Given the description of an element on the screen output the (x, y) to click on. 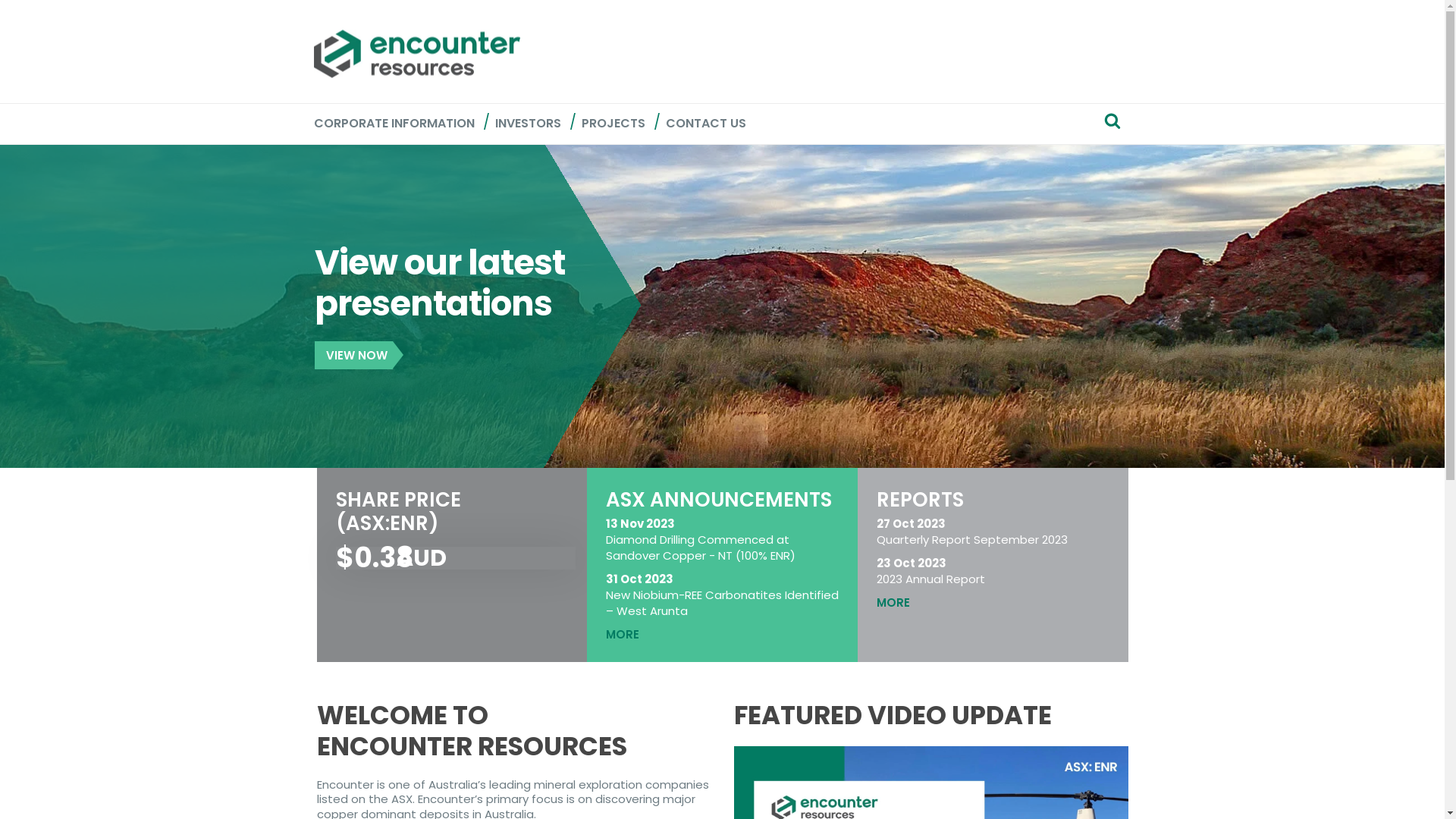
2023 Annual Report Element type: text (996, 578)
INVESTORS Element type: text (527, 123)
slide_1 Element type: hover (722, 304)
Encounter Resources Element type: hover (416, 53)
PROJECTS Element type: text (613, 123)
Quarterly Report September 2023 Element type: text (996, 539)
CORPORATE INFORMATION Element type: text (393, 123)
MORE Element type: text (725, 634)
MORE Element type: text (996, 602)
CONTACT US Element type: text (704, 123)
VIEW NOW Element type: text (352, 355)
